Given the description of an element on the screen output the (x, y) to click on. 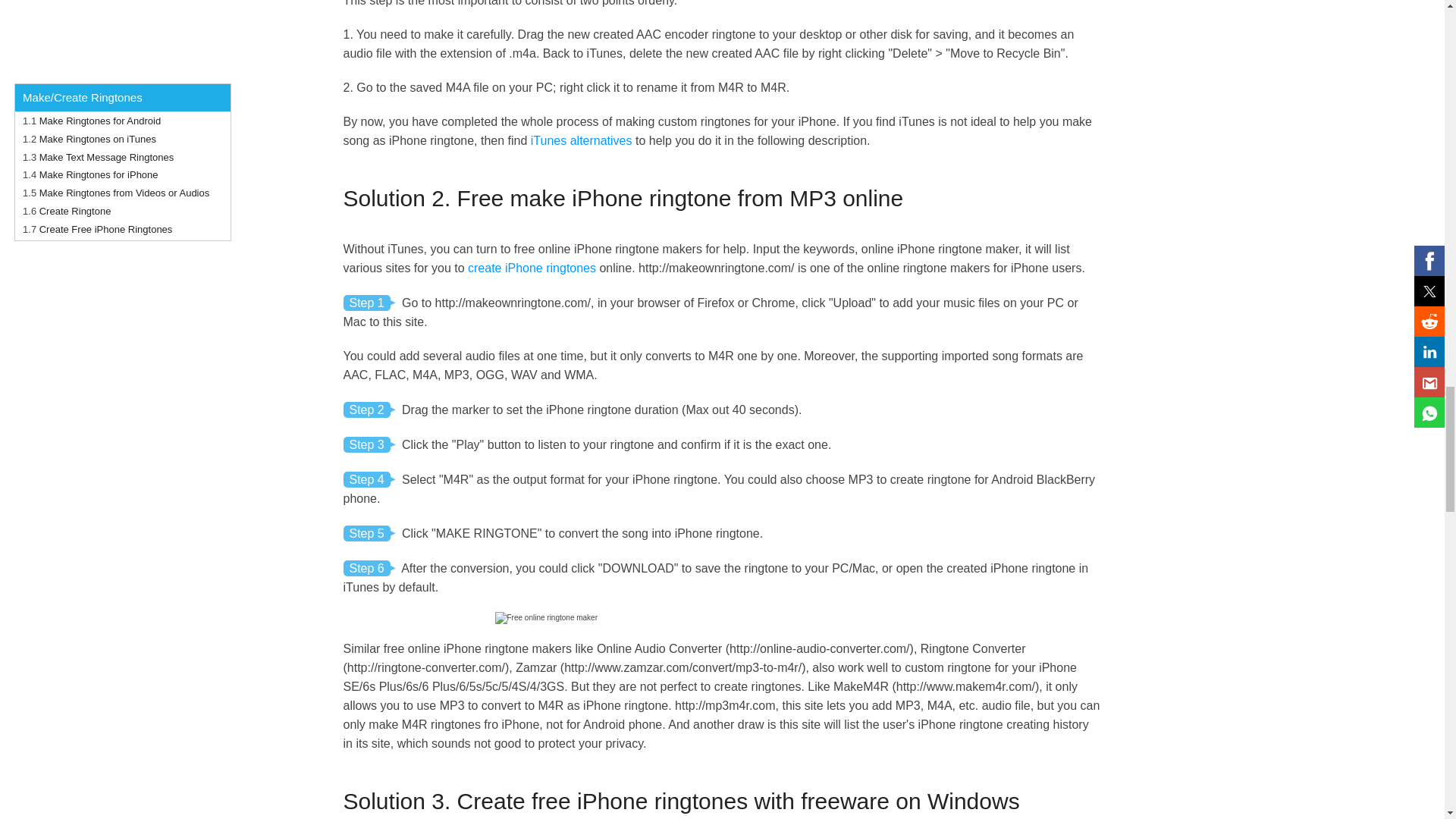
iTunes alternatives (581, 140)
create iPhone ringtones (531, 267)
